Given the description of an element on the screen output the (x, y) to click on. 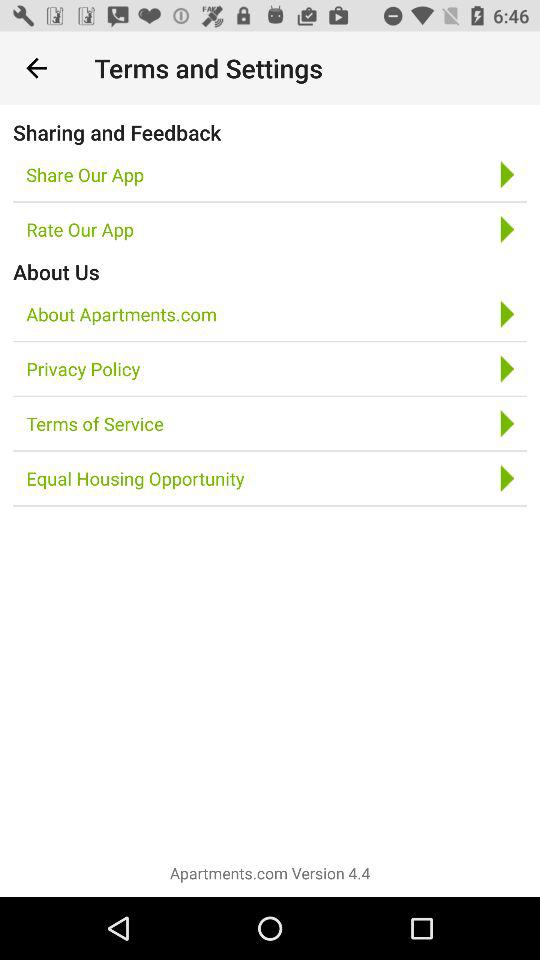
tap the item below terms of service (135, 478)
